Given the description of an element on the screen output the (x, y) to click on. 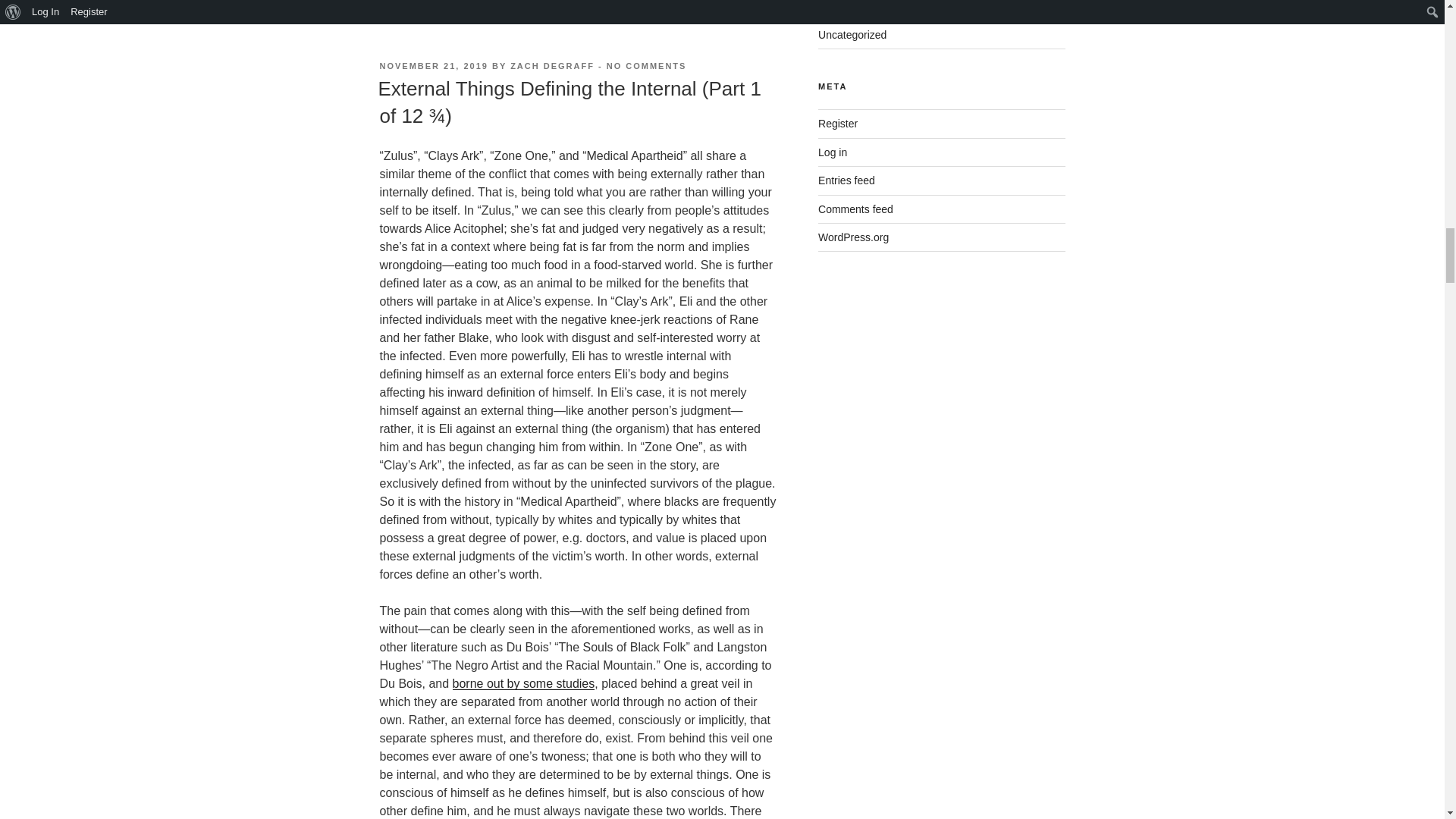
borne out by some studies (523, 683)
NOVEMBER 21, 2019 (432, 65)
ZACH DEGRAFF (552, 65)
